Given the description of an element on the screen output the (x, y) to click on. 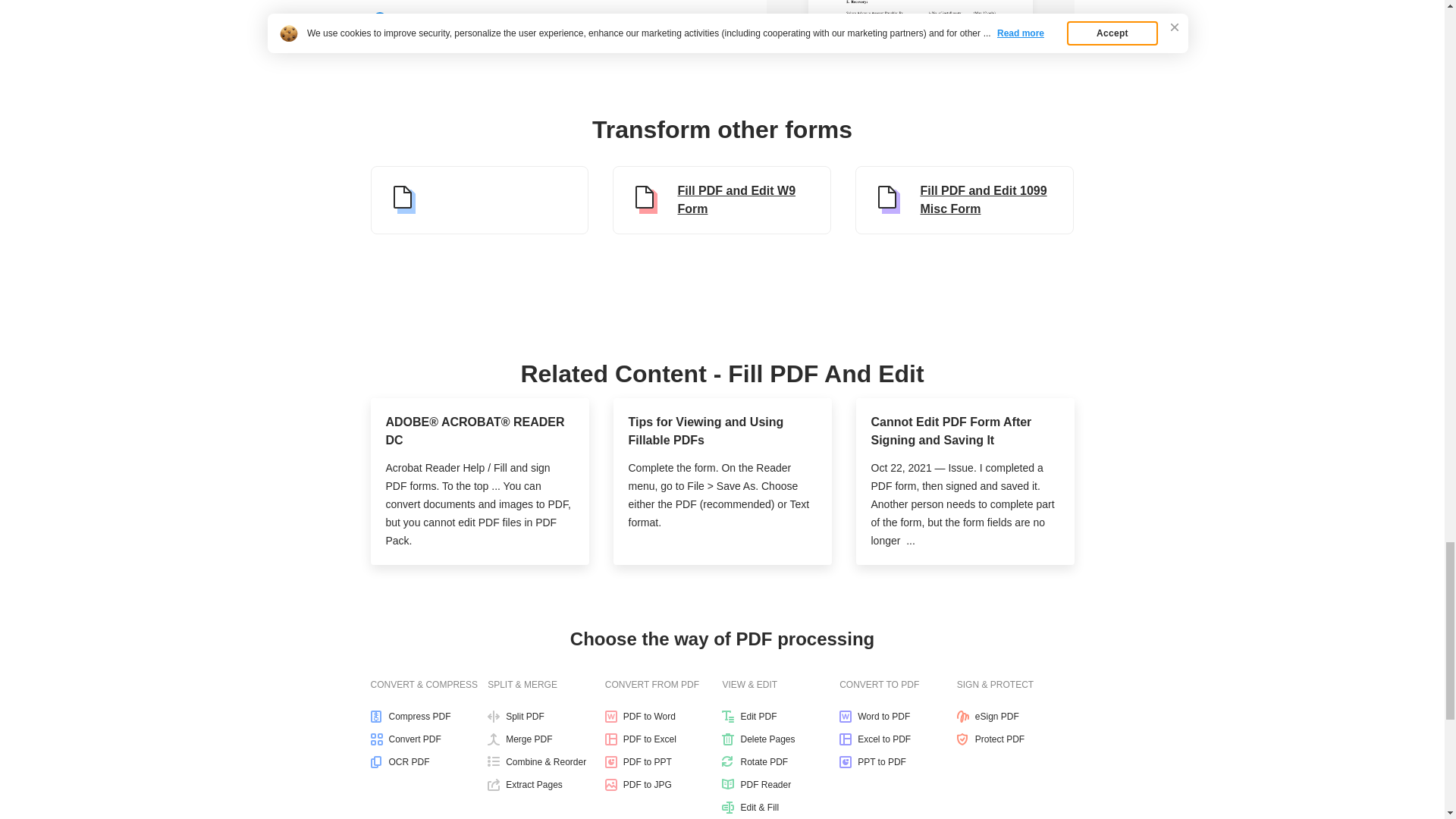
Split PDF (546, 716)
Word to PDF (898, 716)
Delete Pages (781, 739)
PDF to Word (663, 716)
Merge PDF (546, 739)
OCR PDF (428, 761)
PPT to PDF (898, 761)
PDF to PPT (663, 761)
Convert PDF (428, 739)
Protect PDF (1015, 739)
Extract Pages (546, 784)
Fill PDF and Edit W9 Form (721, 200)
PDF Reader (781, 784)
Edit PDF (781, 716)
Fill PDF and Edit 1099 Misc Form (965, 200)
